Given the description of an element on the screen output the (x, y) to click on. 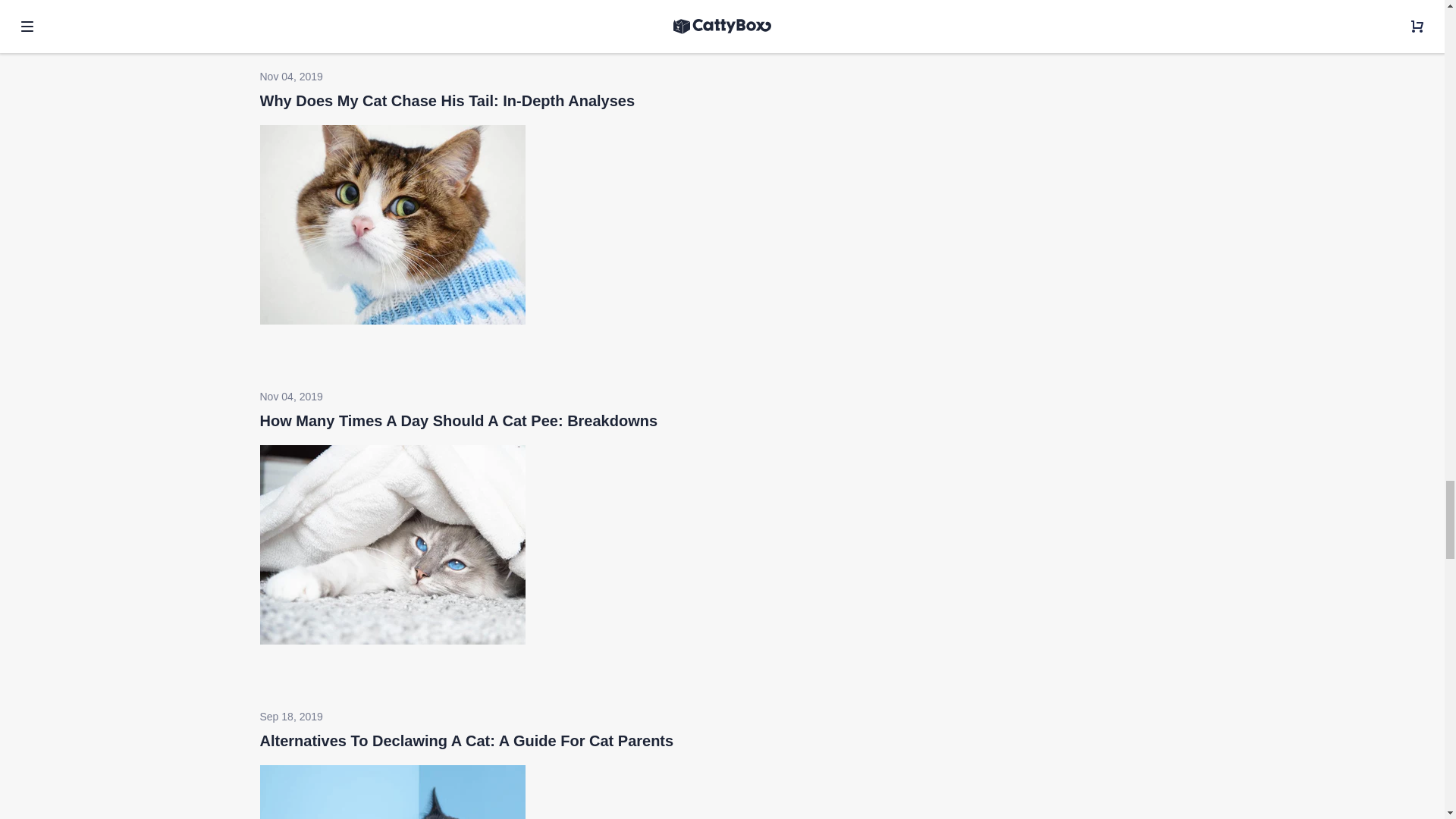
Why Does My Cat Chase His Tail: In-Depth Analyses (446, 100)
Why Does My Cat Chase His Tail: In-Depth Analyses (391, 3)
Alternatives To Declawing A Cat: A Guide For Cat Parents (465, 740)
Why Does My Cat Chase His Tail: In-Depth Analyses (446, 100)
How Many Times A Day Should A Cat Pee: Breakdowns (391, 320)
Alternatives To Declawing A Cat: A Guide For Cat Parents (465, 740)
How Many Times A Day Should A Cat Pee: Breakdowns (458, 420)
How Many Times A Day Should A Cat Pee: Breakdowns (458, 420)
Alternatives To Declawing A Cat: A Guide For Cat Parents (391, 640)
